Given the description of an element on the screen output the (x, y) to click on. 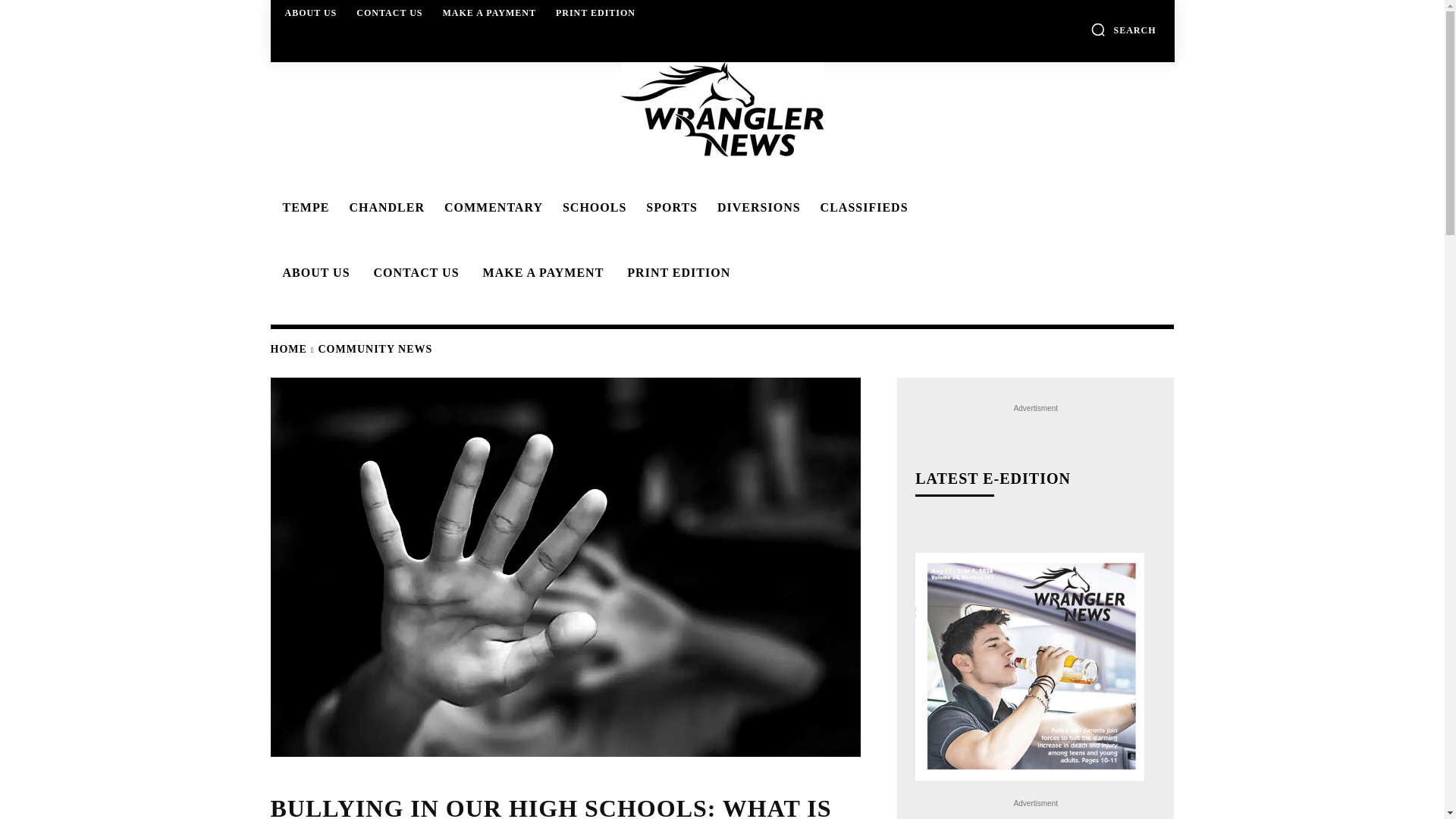
PRINT EDITION (595, 12)
HOME (287, 348)
DIVERSIONS (756, 207)
MAKE A PAYMENT (540, 272)
SPORTS (668, 207)
CHANDLER (384, 207)
SEARCH (1123, 29)
COMMENTARY (491, 207)
CLASSIFIEDS (861, 207)
SCHOOLS (591, 207)
